Given the description of an element on the screen output the (x, y) to click on. 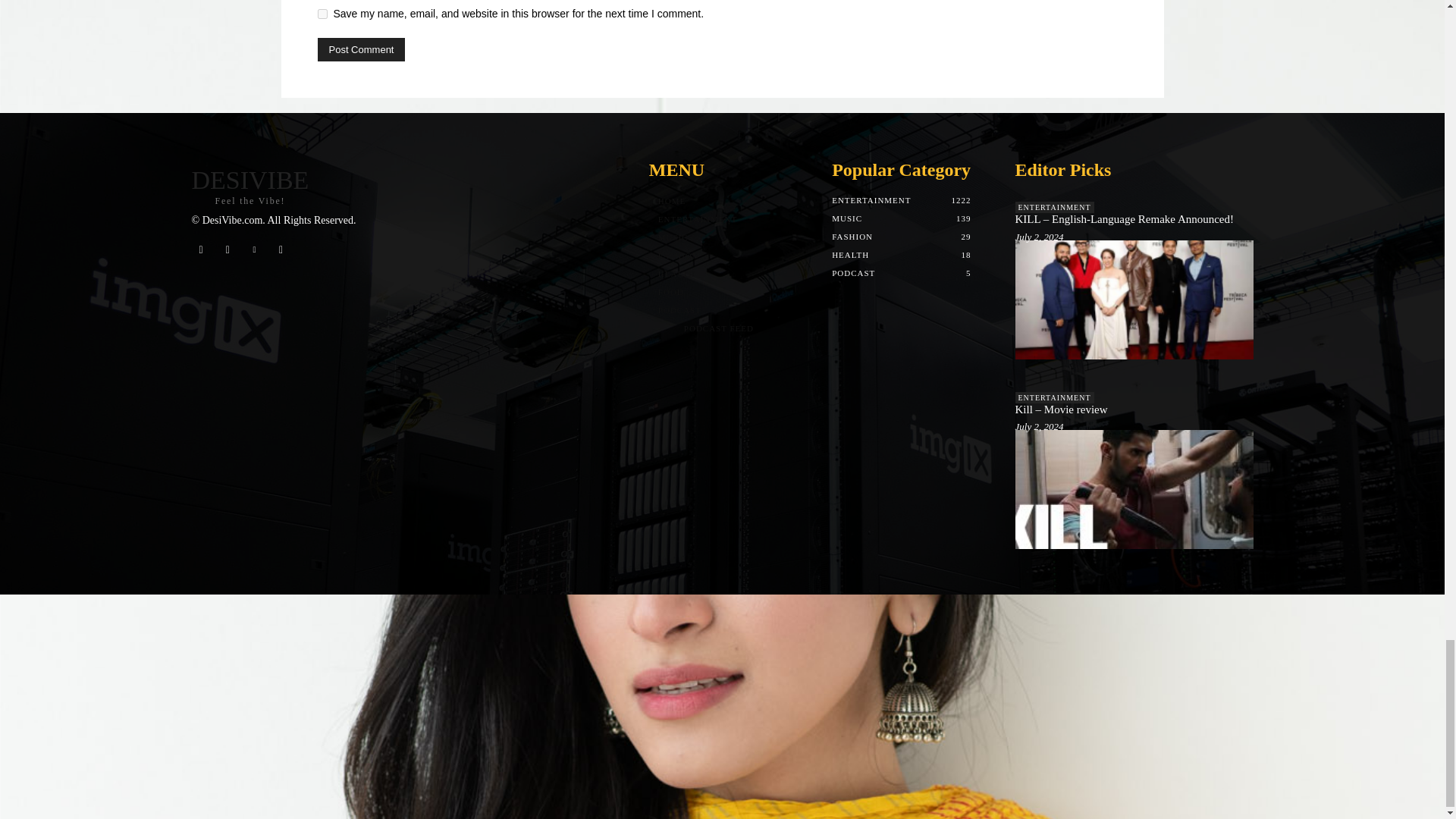
yes (321, 13)
Post Comment (360, 49)
